Given the description of an element on the screen output the (x, y) to click on. 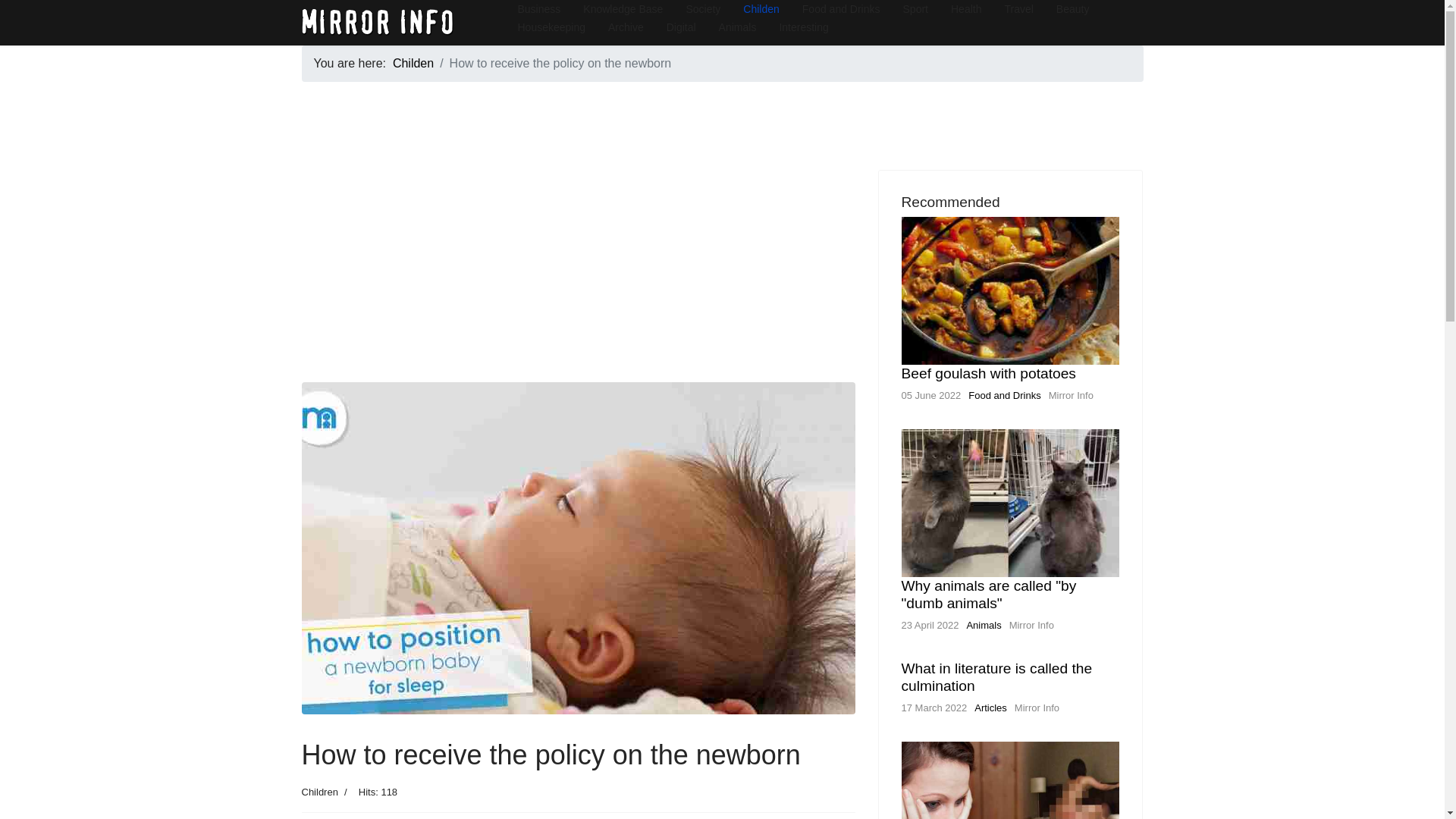
Children (319, 791)
Why animals are called "by "dumb animals" (988, 594)
What in literature is called the culmination (996, 676)
Beef goulash with potatoes (988, 373)
Advertisement (578, 275)
Category: Children (319, 792)
Food and Drinks (1004, 395)
Animals (983, 624)
Childen (413, 62)
Articles (990, 707)
